Given the description of an element on the screen output the (x, y) to click on. 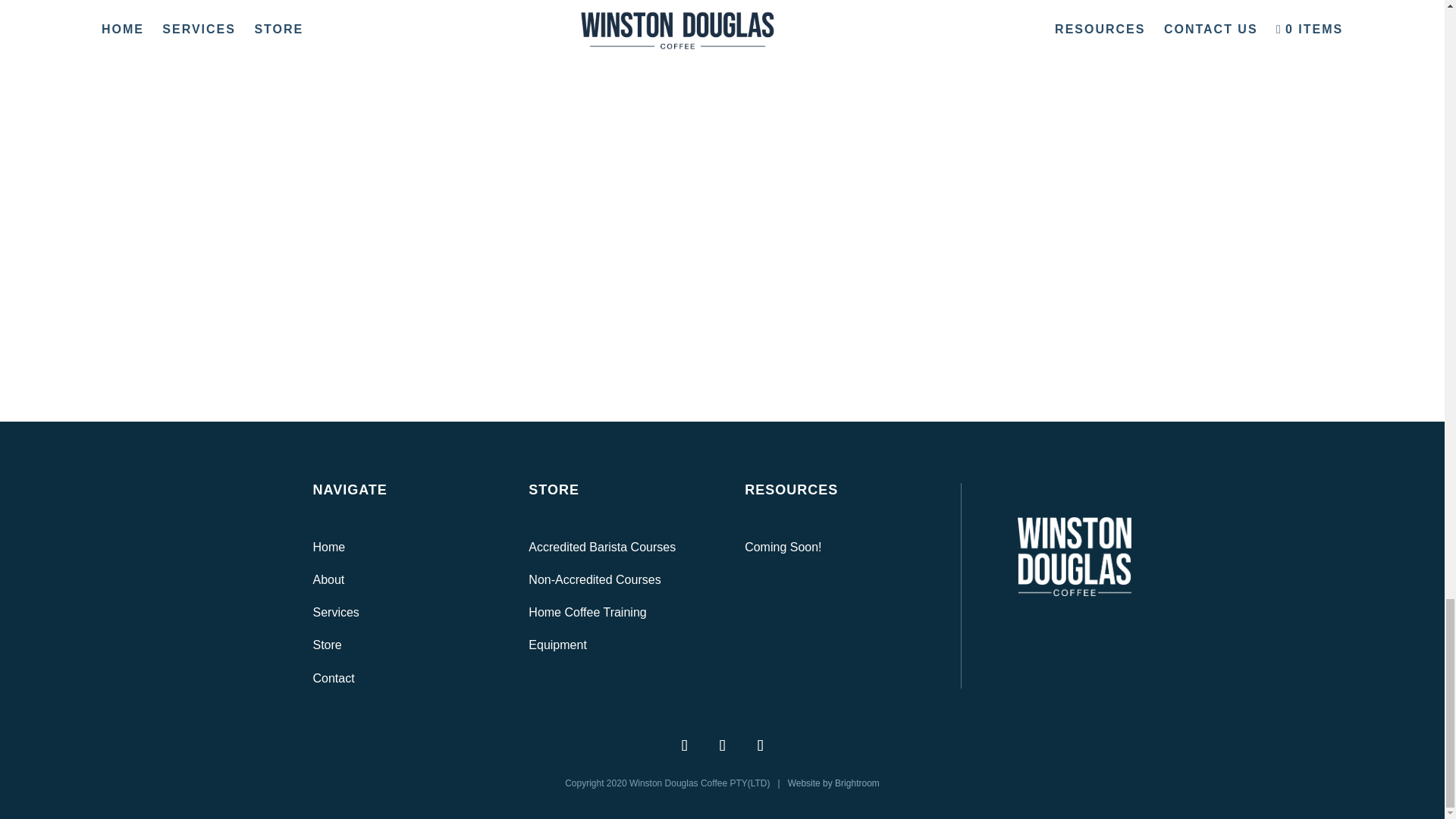
Accredited Barista Courses (601, 546)
Services (335, 612)
Home (329, 546)
Store (326, 644)
Follow on LinkedIn (760, 745)
Contact (333, 677)
Follow on Instagram (722, 745)
Follow on Facebook (684, 745)
Equipment (557, 644)
Website by Brightroom (833, 783)
Non-Accredited Courses (594, 579)
Home Coffee Training (587, 612)
About (328, 579)
